Given the description of an element on the screen output the (x, y) to click on. 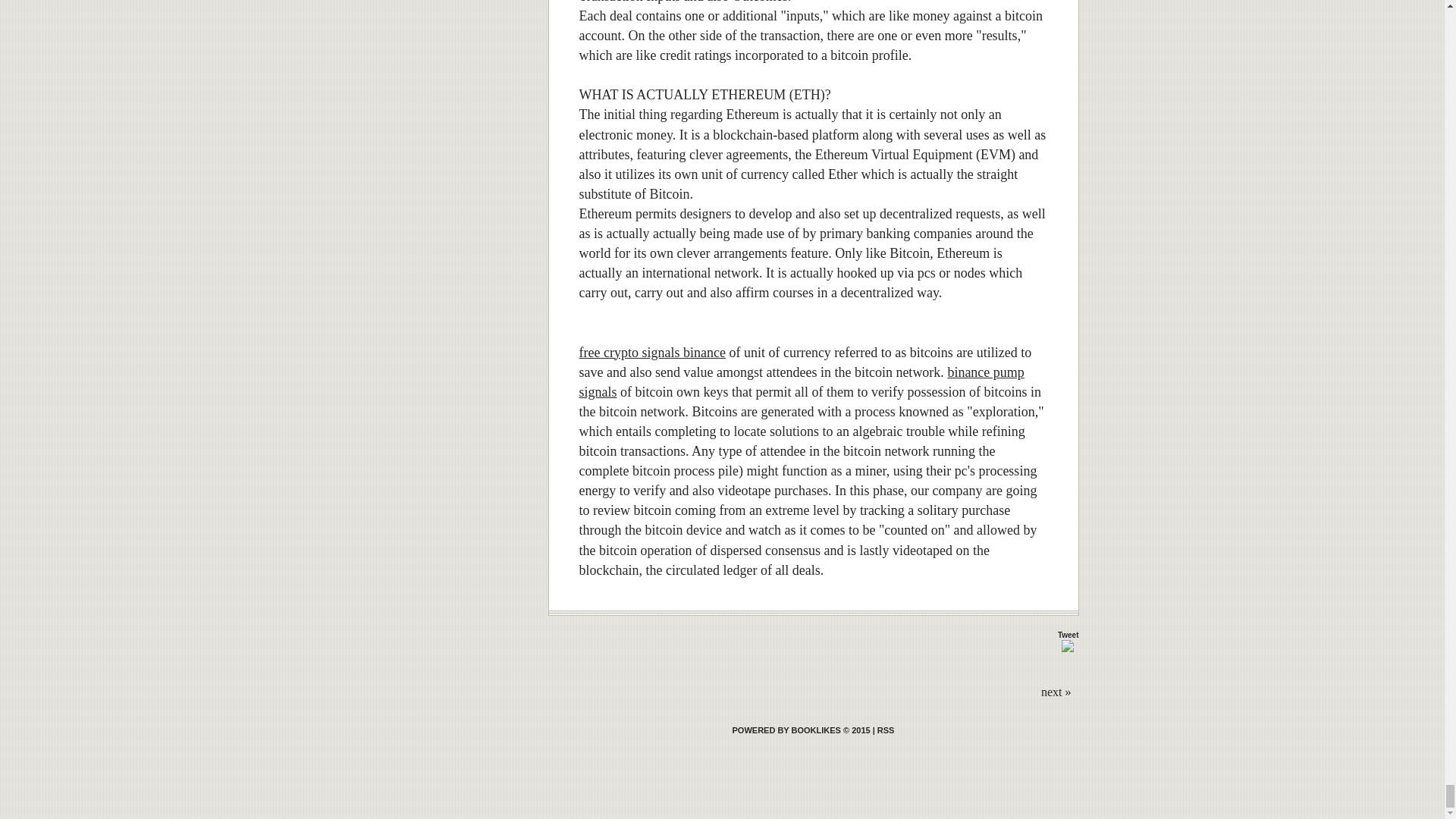
BookLikes (801, 729)
BookLikes (886, 729)
